Given the description of an element on the screen output the (x, y) to click on. 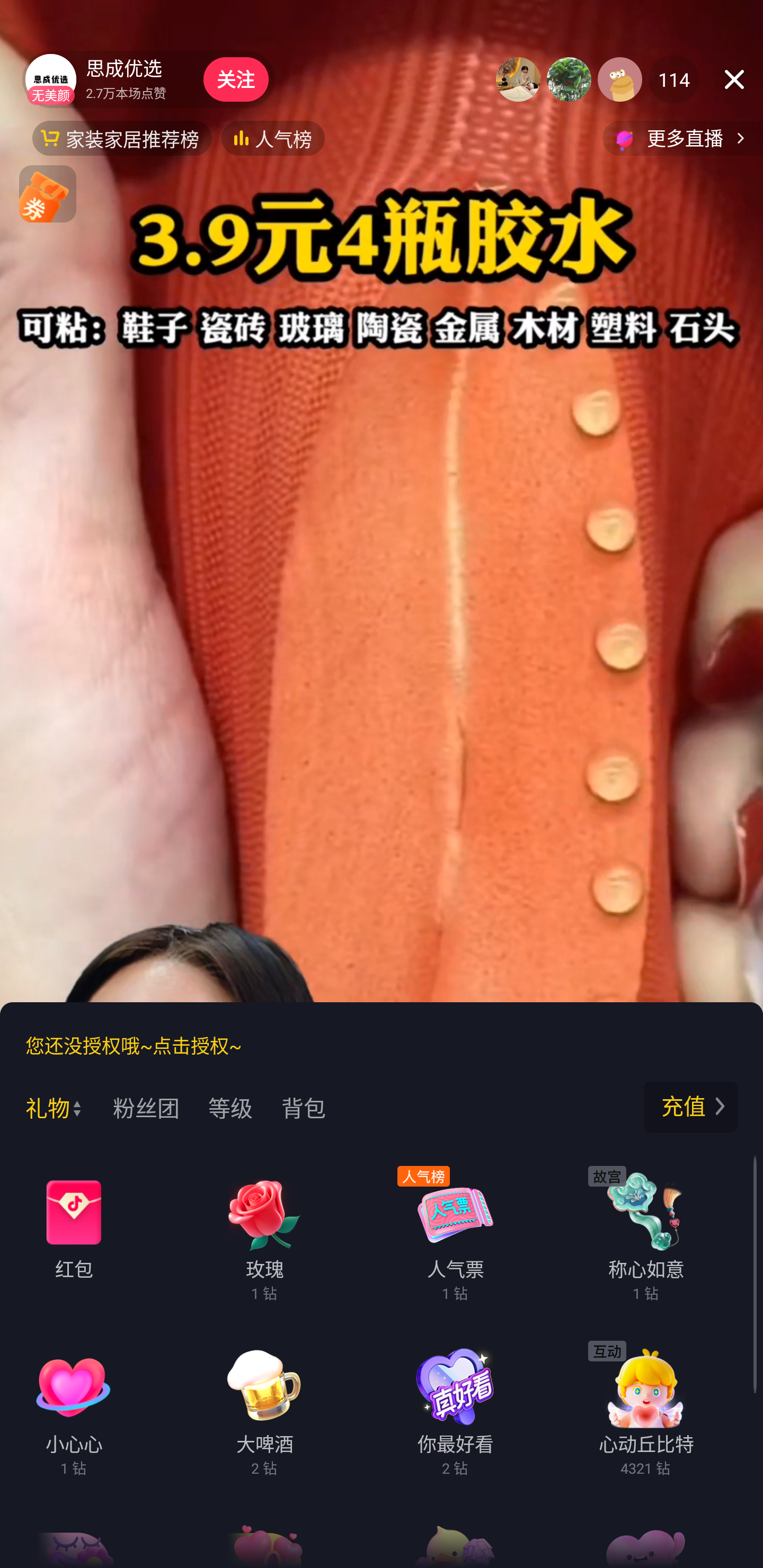
您还没授权哦~点击授权~ (133, 1044)
余额,充值,充值 充值 (690, 1106)
礼物 (56, 1106)
粉丝团 (160, 1106)
等级 (244, 1106)
背包 (343, 1106)
